Given the description of an element on the screen output the (x, y) to click on. 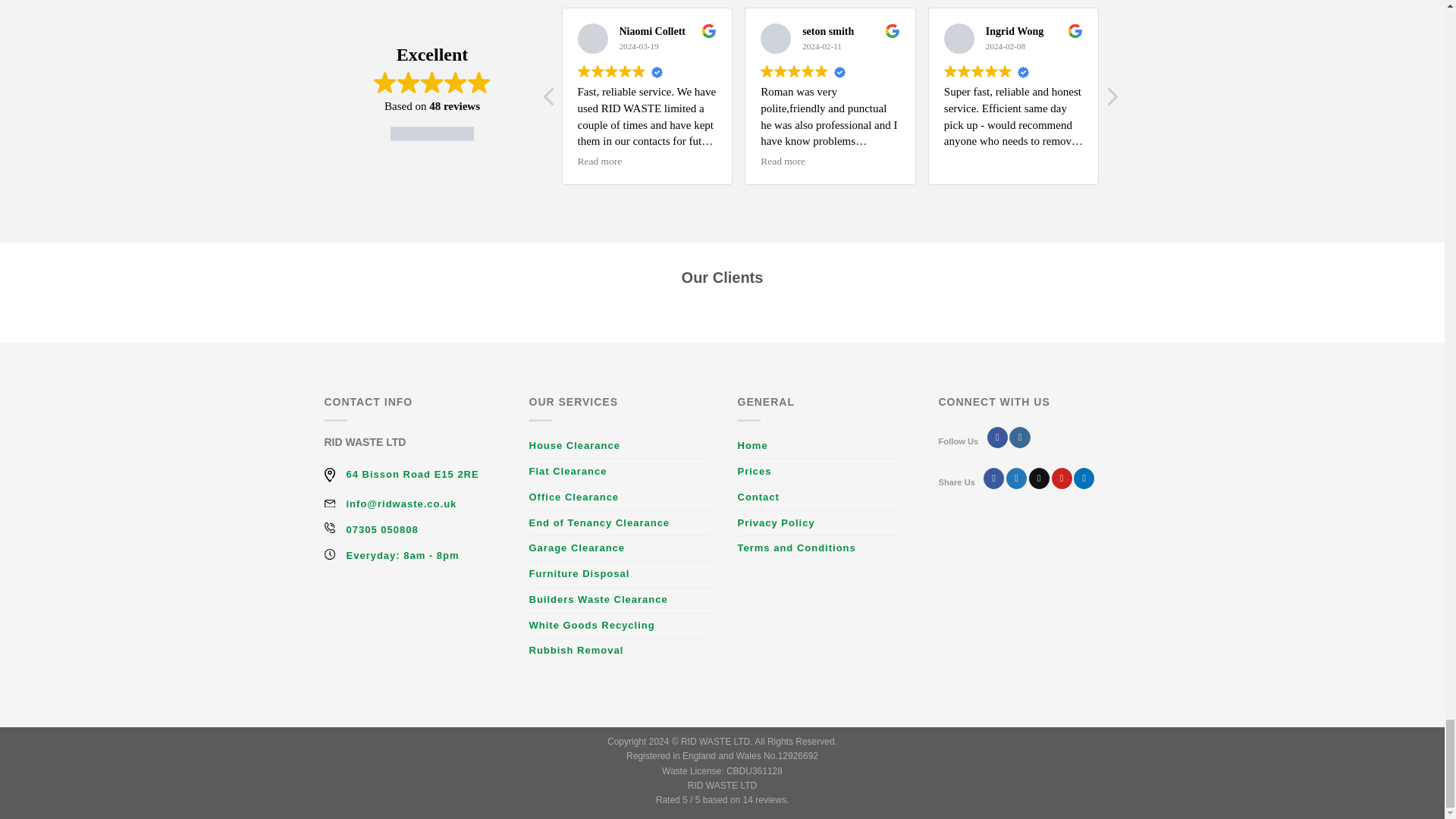
Share on Facebook (994, 477)
Follow on Instagram (1019, 436)
Pin on Pinterest (1061, 477)
Follow on Facebook (997, 436)
Email to a Friend (1039, 477)
Share on LinkedIn (1084, 477)
Share on Twitter (1016, 477)
